Given the description of an element on the screen output the (x, y) to click on. 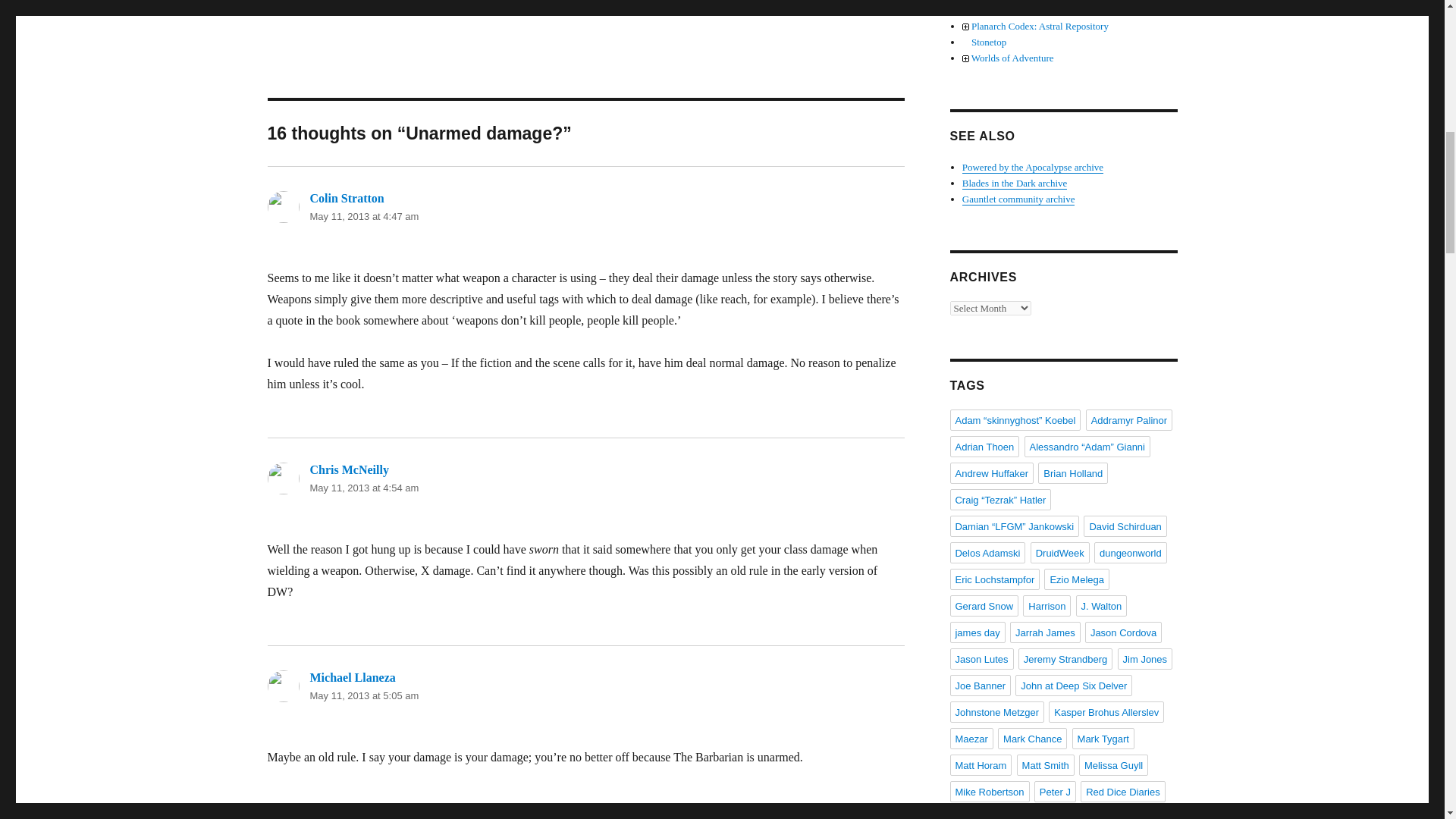
Chris McNeilly (348, 469)
May 11, 2013 at 4:47 am (363, 215)
May 11, 2013 at 5:05 am (363, 695)
Michael Llaneza (351, 676)
Colin Stratton (346, 197)
May 11, 2013 at 4:54 am (363, 487)
